Given the description of an element on the screen output the (x, y) to click on. 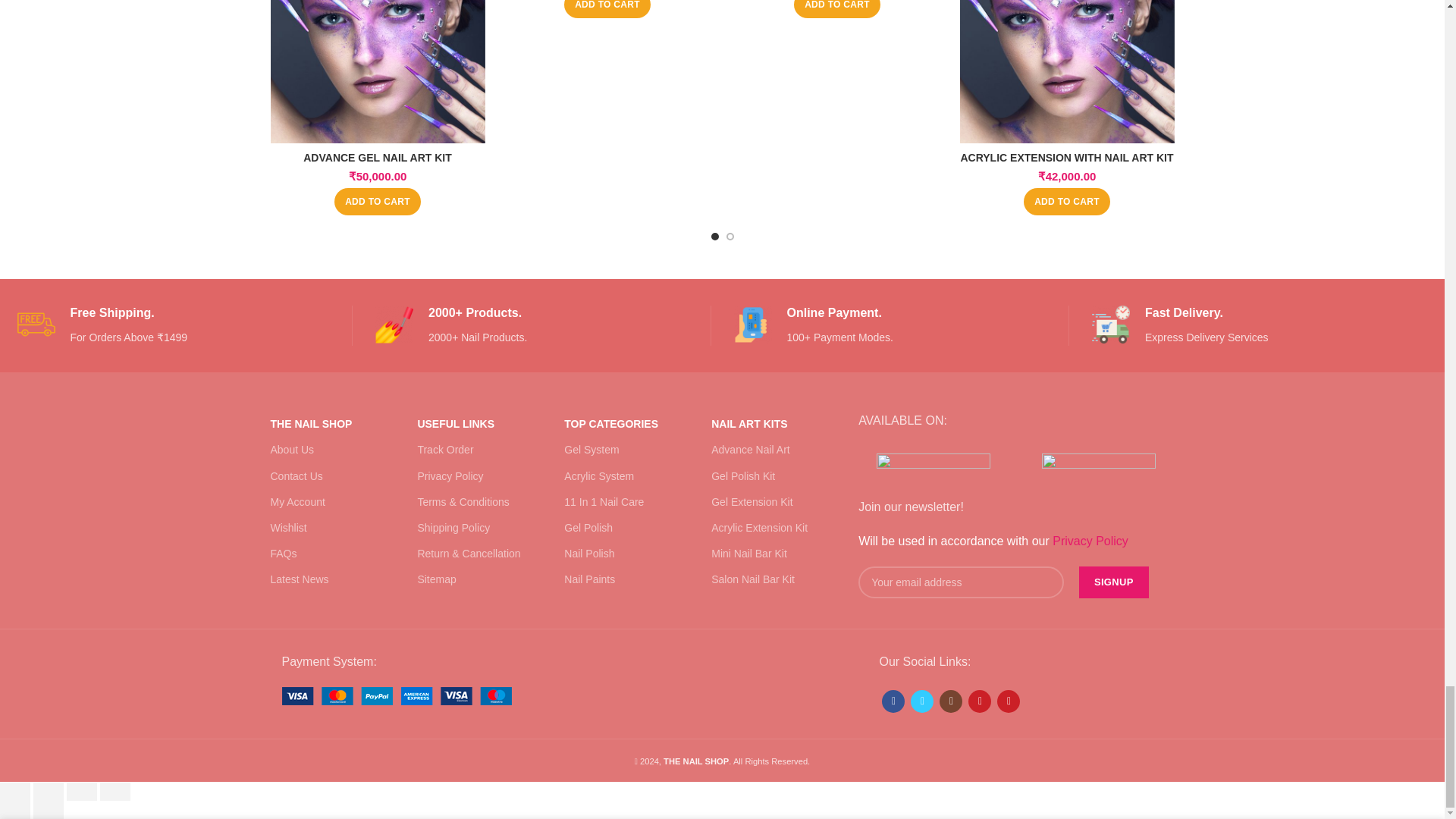
icons8-nail-polish-48 (394, 324)
payment (397, 696)
Signup (1113, 582)
icons8-online-payment-64 (752, 324)
